Given the description of an element on the screen output the (x, y) to click on. 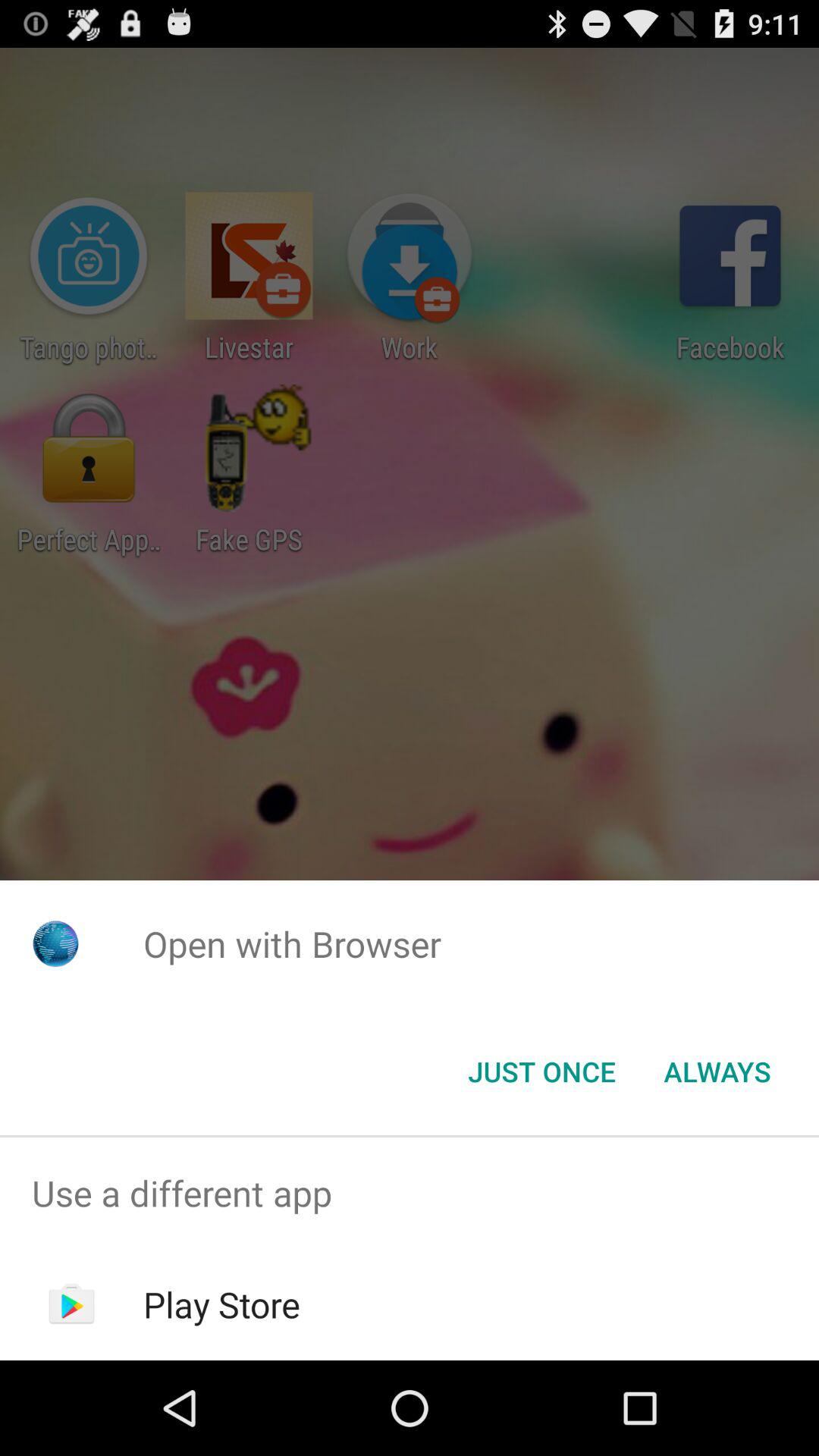
select the app below the open with browser (541, 1071)
